Given the description of an element on the screen output the (x, y) to click on. 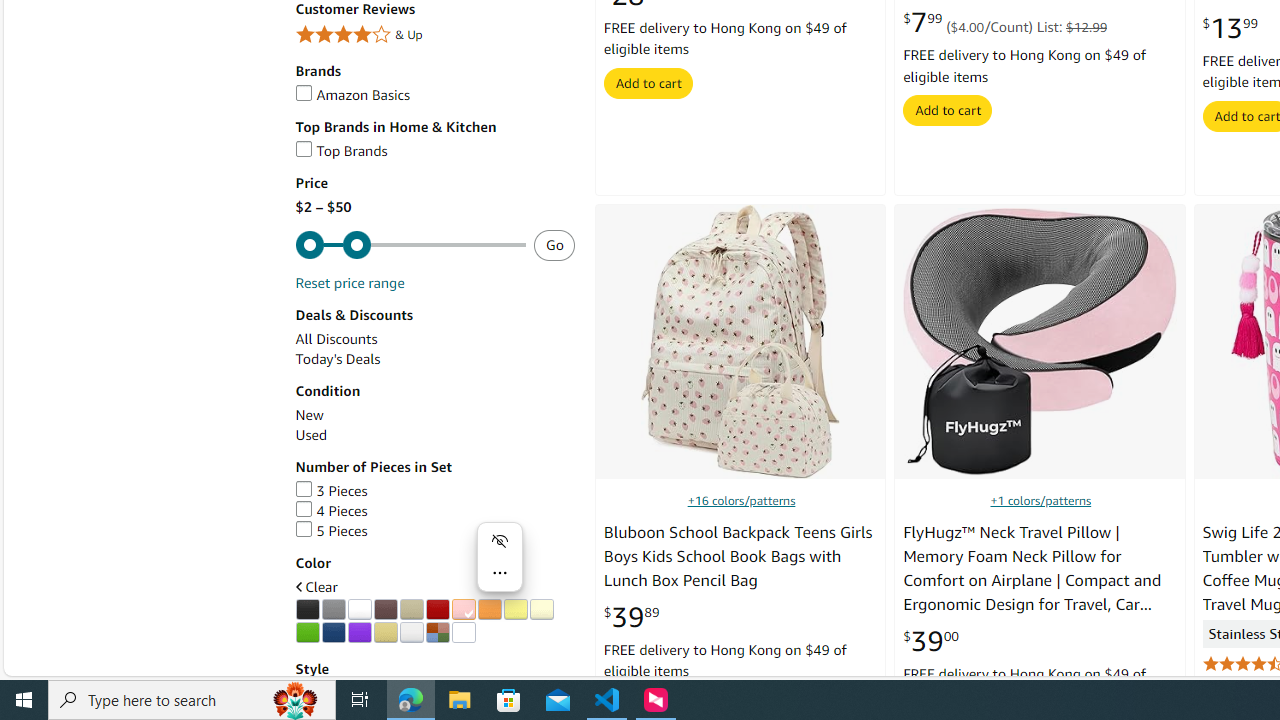
AutomationID: p_n_feature_twenty_browse-bin/3254109011 (333, 632)
AutomationID: p_n_feature_twenty_browse-bin/3254098011 (307, 609)
+1 colors/patterns (1040, 499)
AutomationID: p_n_feature_twenty_browse-bin/3254107011 (541, 609)
$7.99 ( $4.00 /Count) List: $12.99 (1005, 23)
AutomationID: p_n_feature_twenty_browse-bin/3254110011 (359, 632)
4 Stars & Up& Up (434, 36)
AutomationID: p_n_feature_twenty_browse-bin/3254114011 (463, 632)
AutomationID: p_n_feature_twenty_browse-bin/3254101011 (385, 609)
Today's Deals (337, 358)
Go - Submit price range (554, 244)
Reset price range (349, 283)
Amazon Basics (434, 95)
AutomationID: p_n_feature_twenty_browse-bin/3254099011 (333, 609)
Amazon Basics (352, 94)
